Given the description of an element on the screen output the (x, y) to click on. 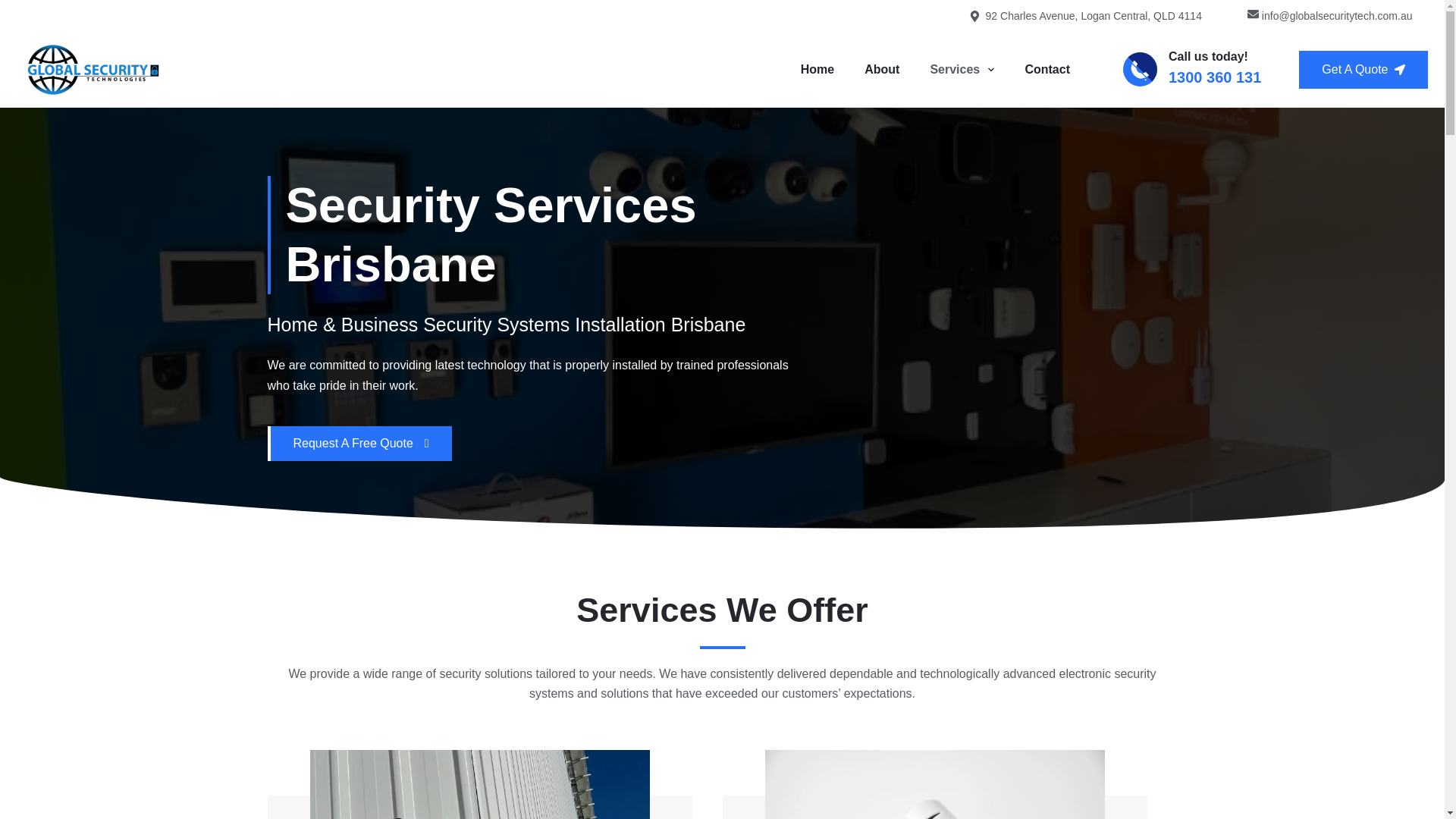
Services (961, 69)
92 Charles Avenue, Logan Central, QLD 4114 (1085, 15)
Home (817, 69)
About (881, 69)
Skip to content (15, 7)
